Given the description of an element on the screen output the (x, y) to click on. 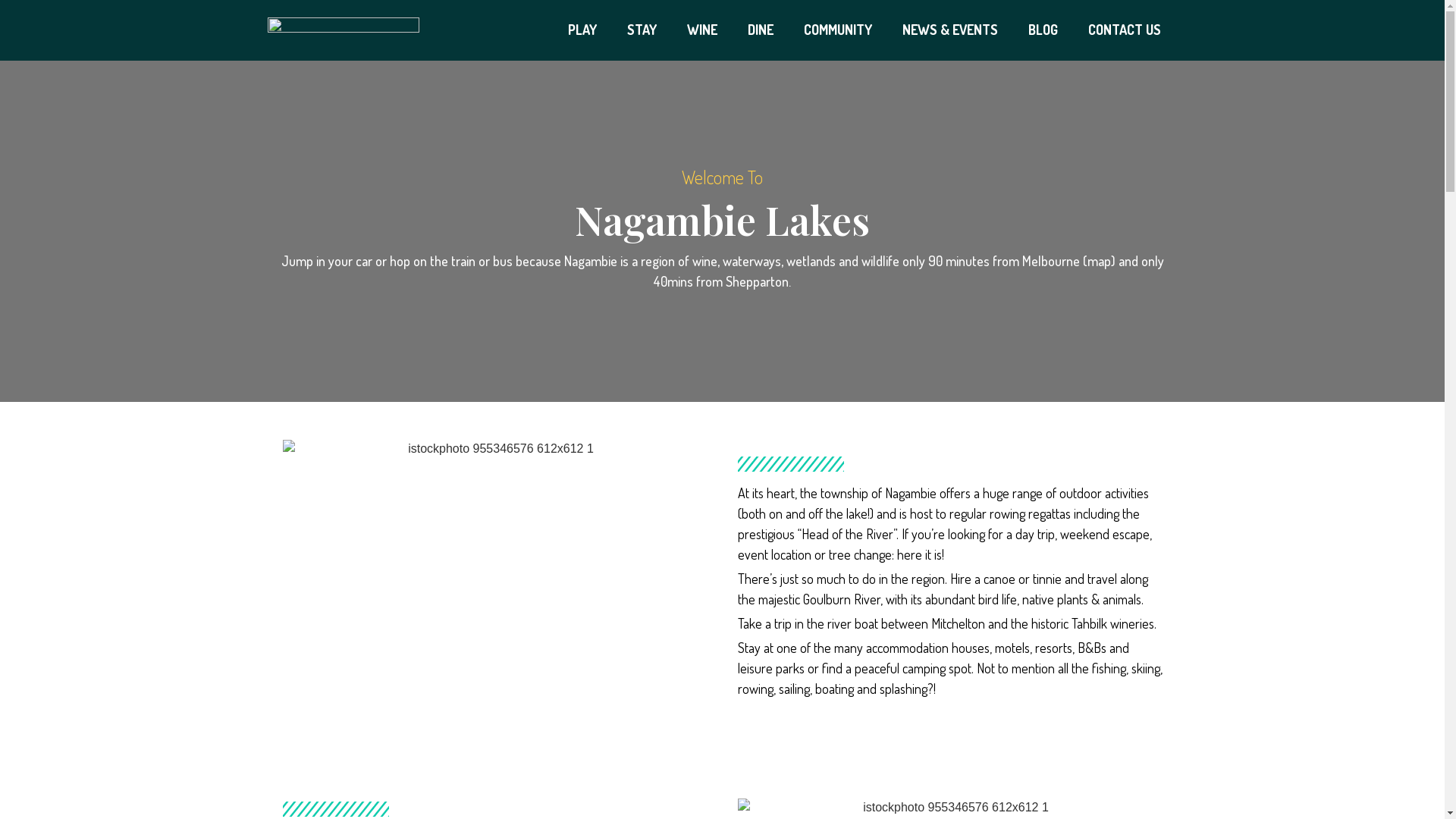
CONTACT US Element type: text (1124, 30)
DINE Element type: text (760, 30)
BLOG Element type: text (1043, 30)
STAY Element type: text (641, 30)
NEWS & EVENTS Element type: text (950, 30)
WINE Element type: text (701, 30)
COMMUNITY Element type: text (837, 30)
Nagambie 1 Element type: hover (494, 580)
PLAY Element type: text (581, 30)
